Given the description of an element on the screen output the (x, y) to click on. 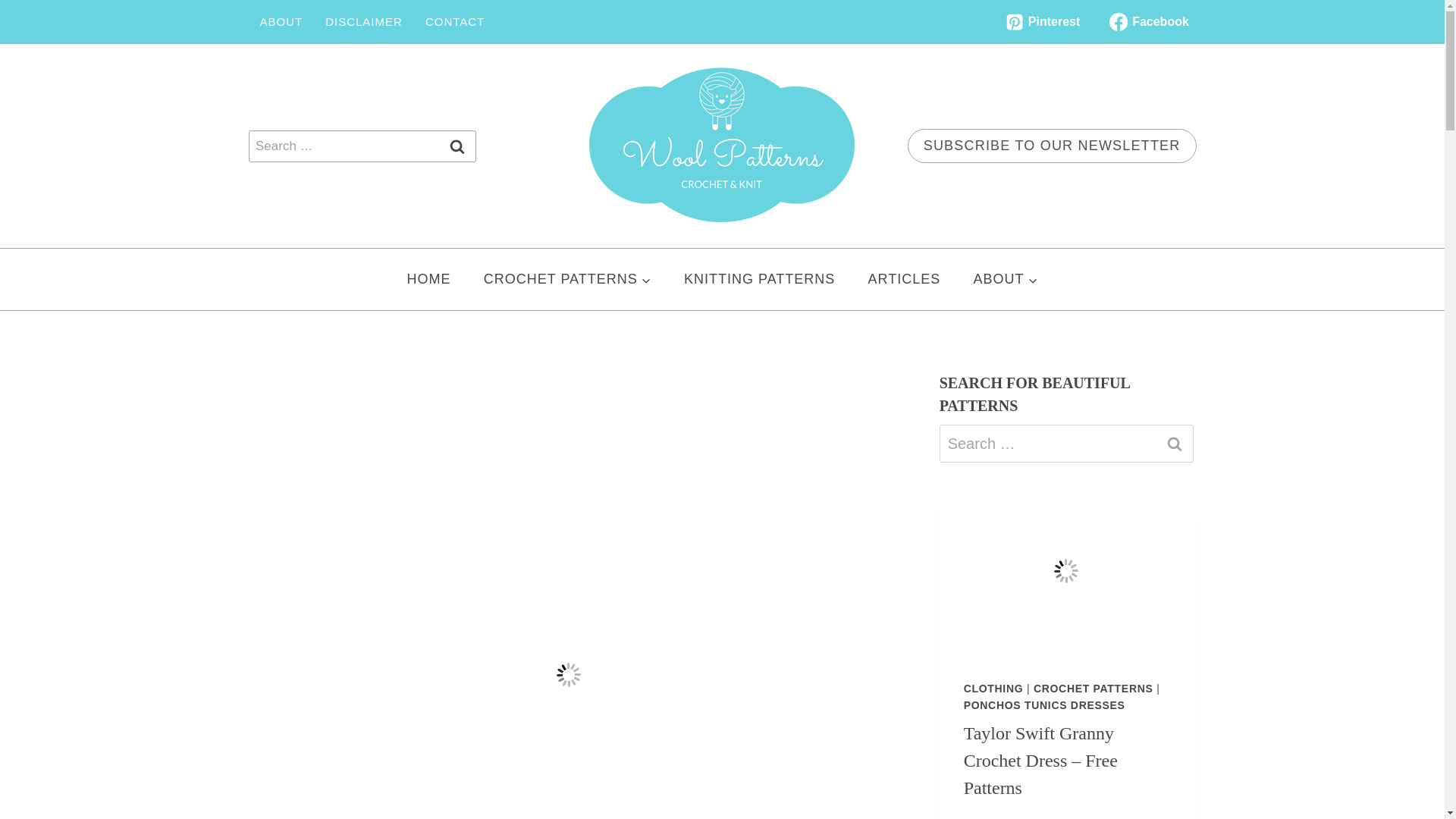
HOME (428, 279)
ABOUT (1005, 279)
Search (457, 146)
Facebook (1148, 22)
Search (457, 146)
Search (457, 146)
KNITTING PATTERNS (758, 279)
ARTICLES (903, 279)
SUBSCRIBE TO OUR NEWSLETTER (1051, 145)
Search (1174, 443)
CONTACT (454, 21)
DISCLAIMER (363, 21)
ABOUT (281, 21)
Pinterest (1042, 22)
CROCHET PATTERNS (566, 279)
